Given the description of an element on the screen output the (x, y) to click on. 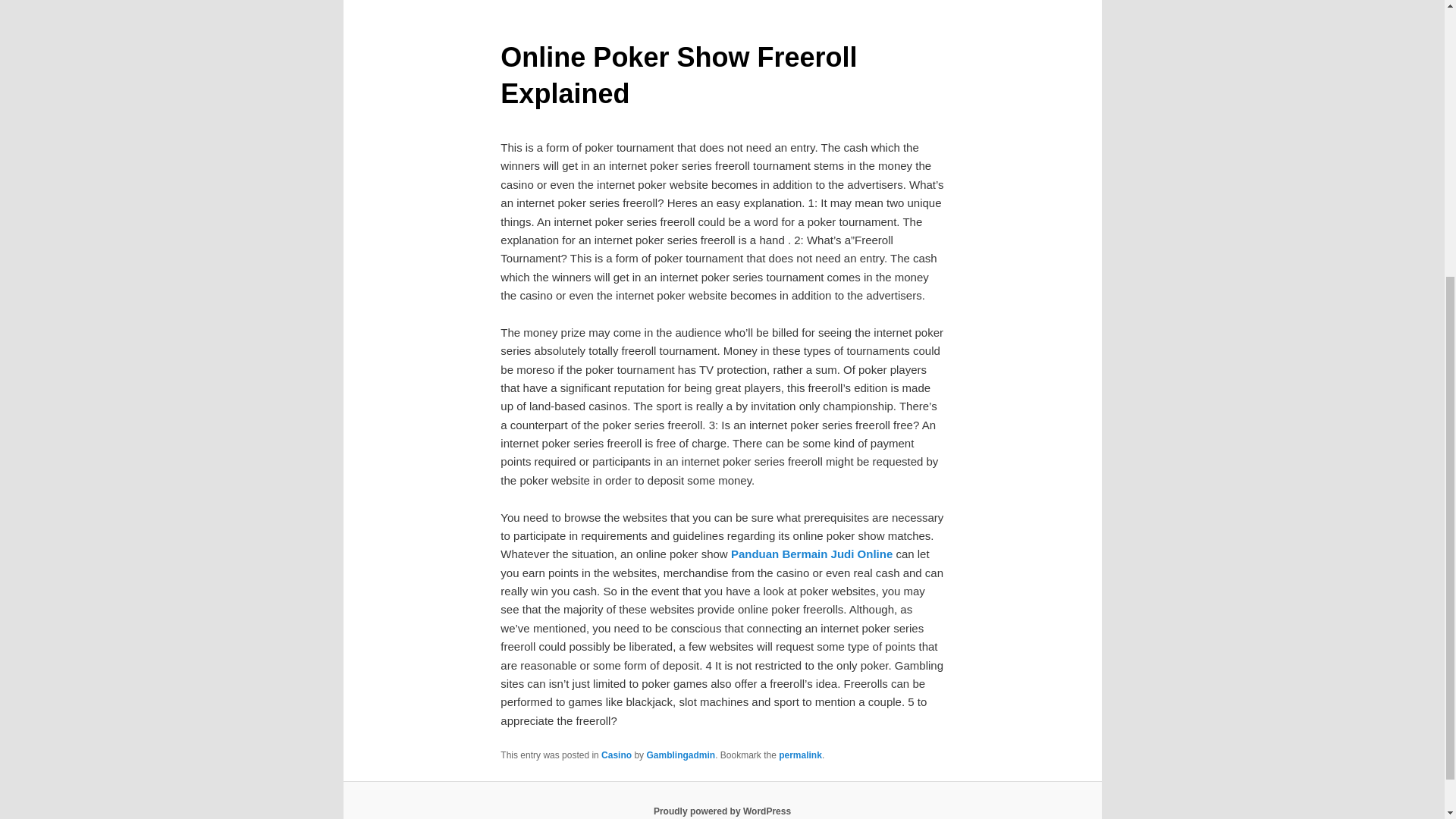
Permalink to Online Poker Show Freeroll Explained (800, 755)
Gamblingadmin (680, 755)
Semantic Personal Publishing Platform (721, 810)
Proudly powered by WordPress (721, 810)
permalink (800, 755)
Casino (616, 755)
Panduan Bermain Judi Online (811, 553)
